Given the description of an element on the screen output the (x, y) to click on. 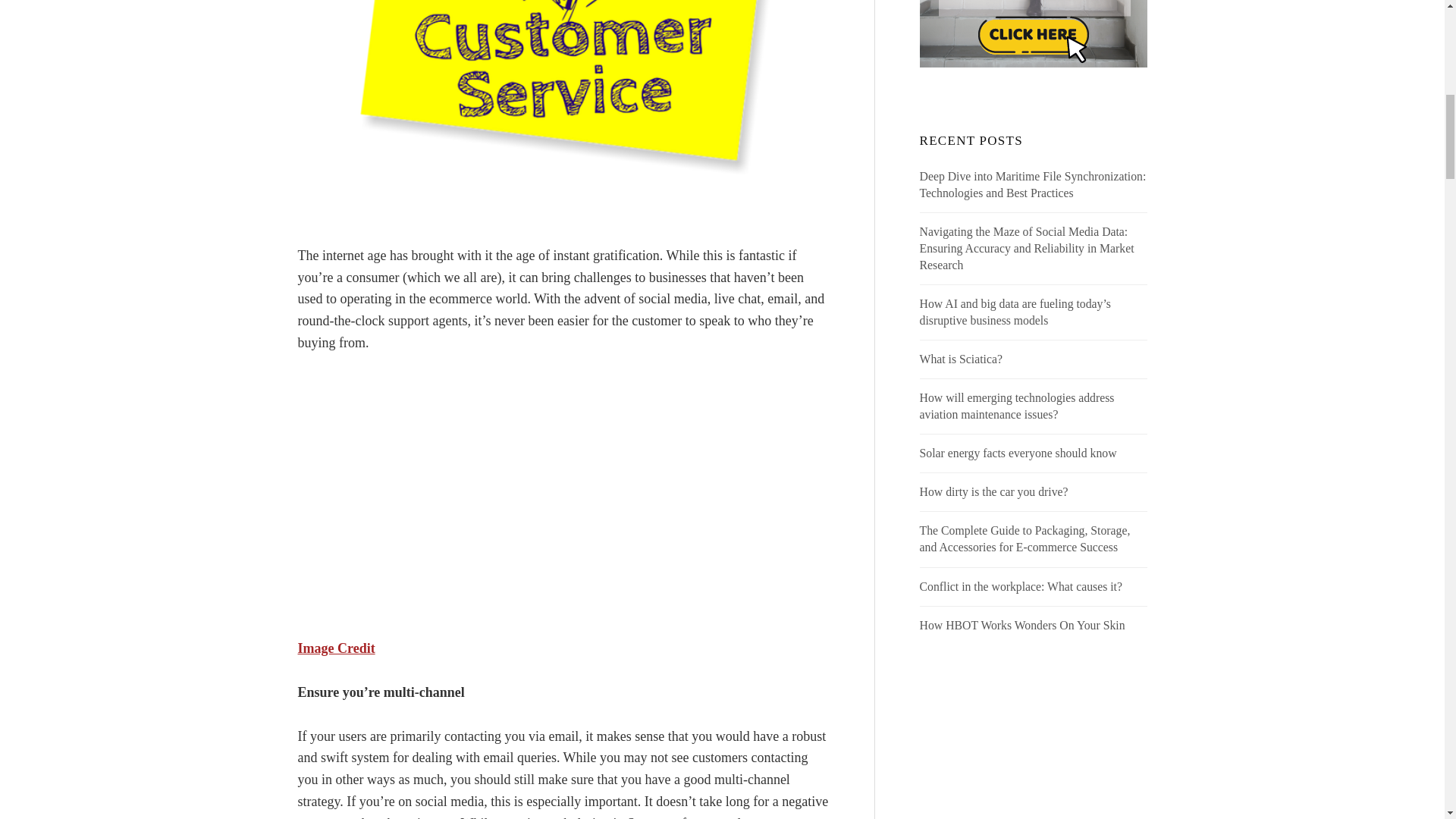
Click Here (1033, 754)
Conflict in the workplace: What causes it? (1021, 585)
How dirty is the car you drive? (994, 491)
What is Sciatica? (961, 358)
Image Credit (335, 648)
Solar energy facts everyone should know (1018, 452)
Click Here (1033, 33)
How HBOT Works Wonders On Your Skin (1022, 625)
